Given the description of an element on the screen output the (x, y) to click on. 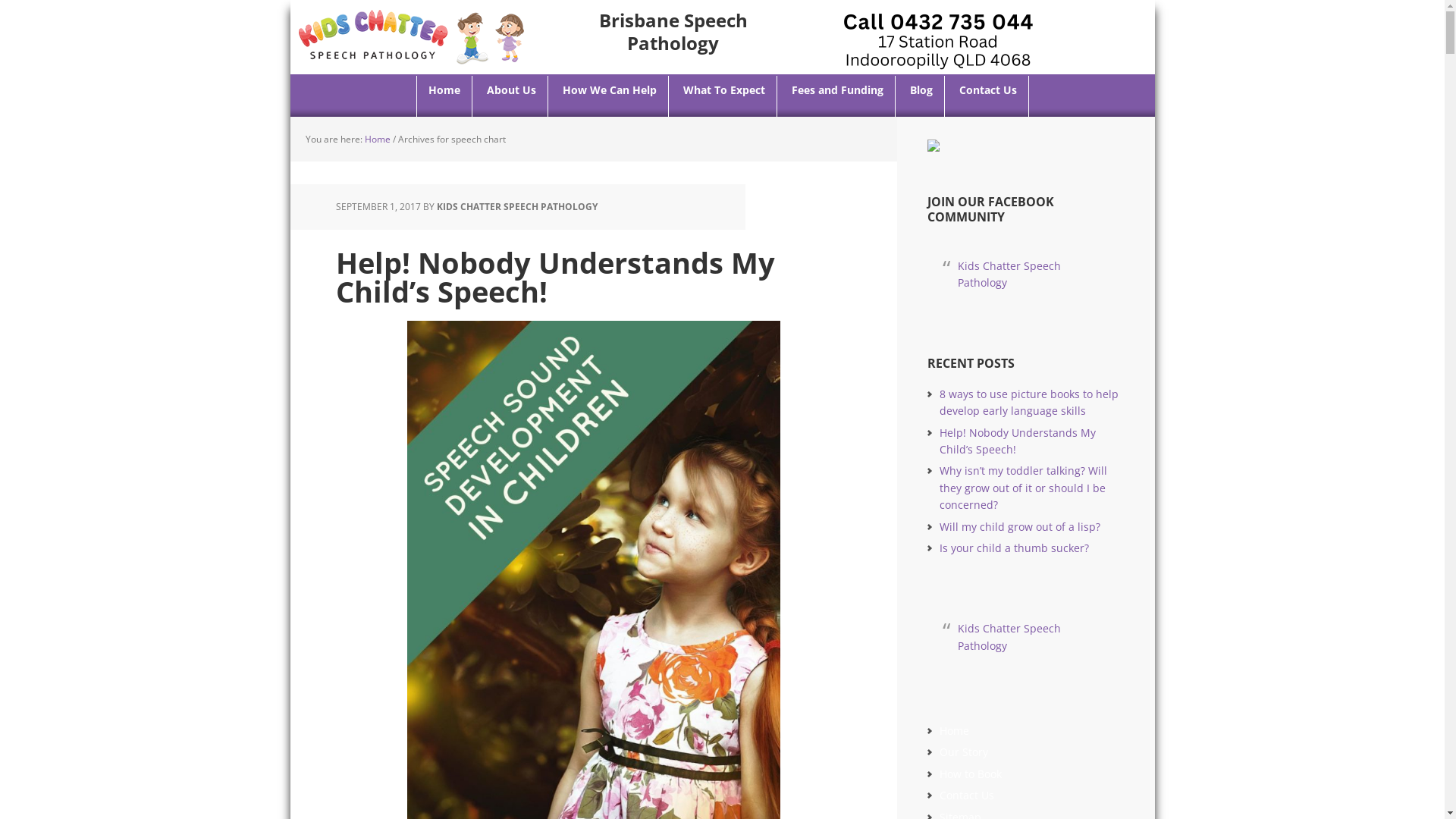
Kids Chatter Speech Pathology Element type: text (1008, 636)
Is your child a thumb sucker? Element type: text (1013, 547)
Our Story Element type: text (962, 751)
Blog Element type: text (920, 95)
Home Element type: text (376, 138)
Kids Chatter Speech Pathology Element type: text (1008, 273)
Home Element type: text (443, 95)
Contact Us Element type: text (988, 95)
KIDS CHATTER SPEECH PATHOLOGY Element type: text (516, 206)
How to Book Element type: text (969, 773)
Home Element type: text (953, 730)
Fees and Funding Element type: text (836, 95)
How We Can Help Element type: text (609, 95)
Contact Us Element type: text (965, 794)
Will my child grow out of a lisp? Element type: text (1018, 526)
Kids Chatter Speech Pathology Element type: text (410, 35)
About Us Element type: text (510, 95)
What To Expect Element type: text (724, 95)
